Given the description of an element on the screen output the (x, y) to click on. 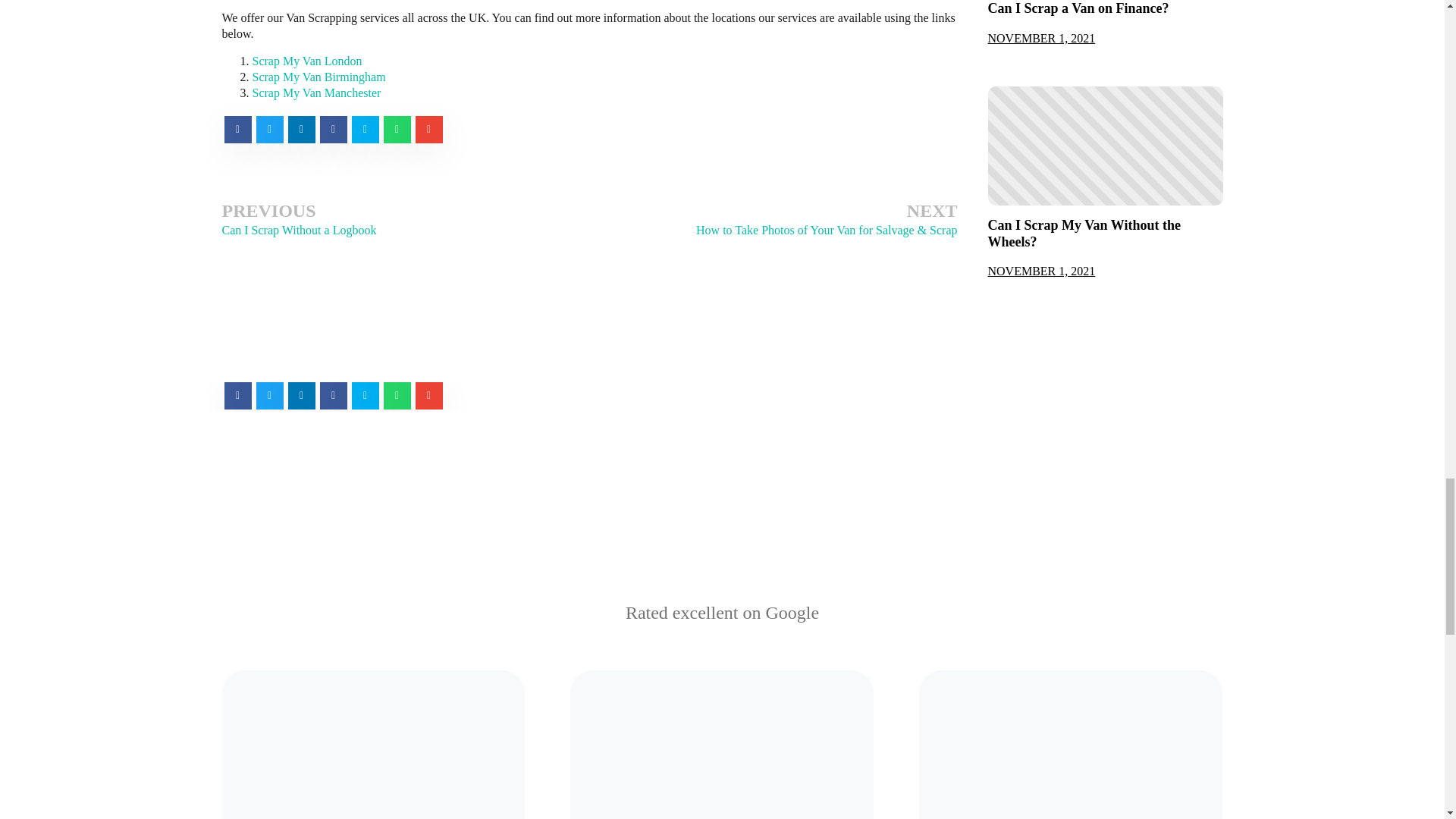
Can I Scrap Without a Logbook (298, 229)
Scrap My Van Birmingham (318, 76)
Scrap My Van London (306, 60)
Scrap My Van Manchester (315, 92)
